Given the description of an element on the screen output the (x, y) to click on. 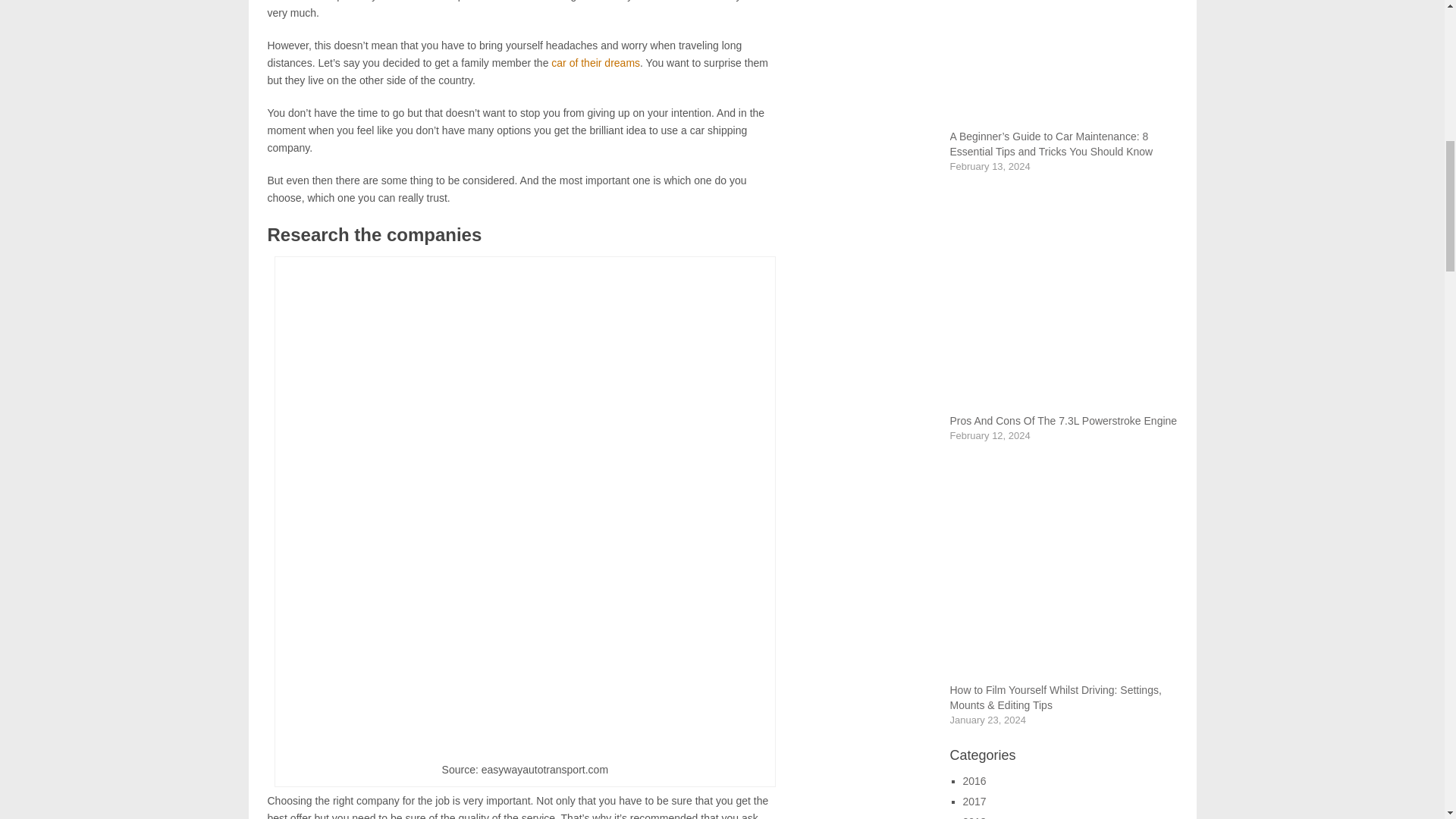
2017 (974, 801)
2016 (974, 780)
car of their dreams (595, 62)
Pros And Cons Of The 7.3L Powerstroke Engine (1062, 420)
2018 (974, 817)
